Given the description of an element on the screen output the (x, y) to click on. 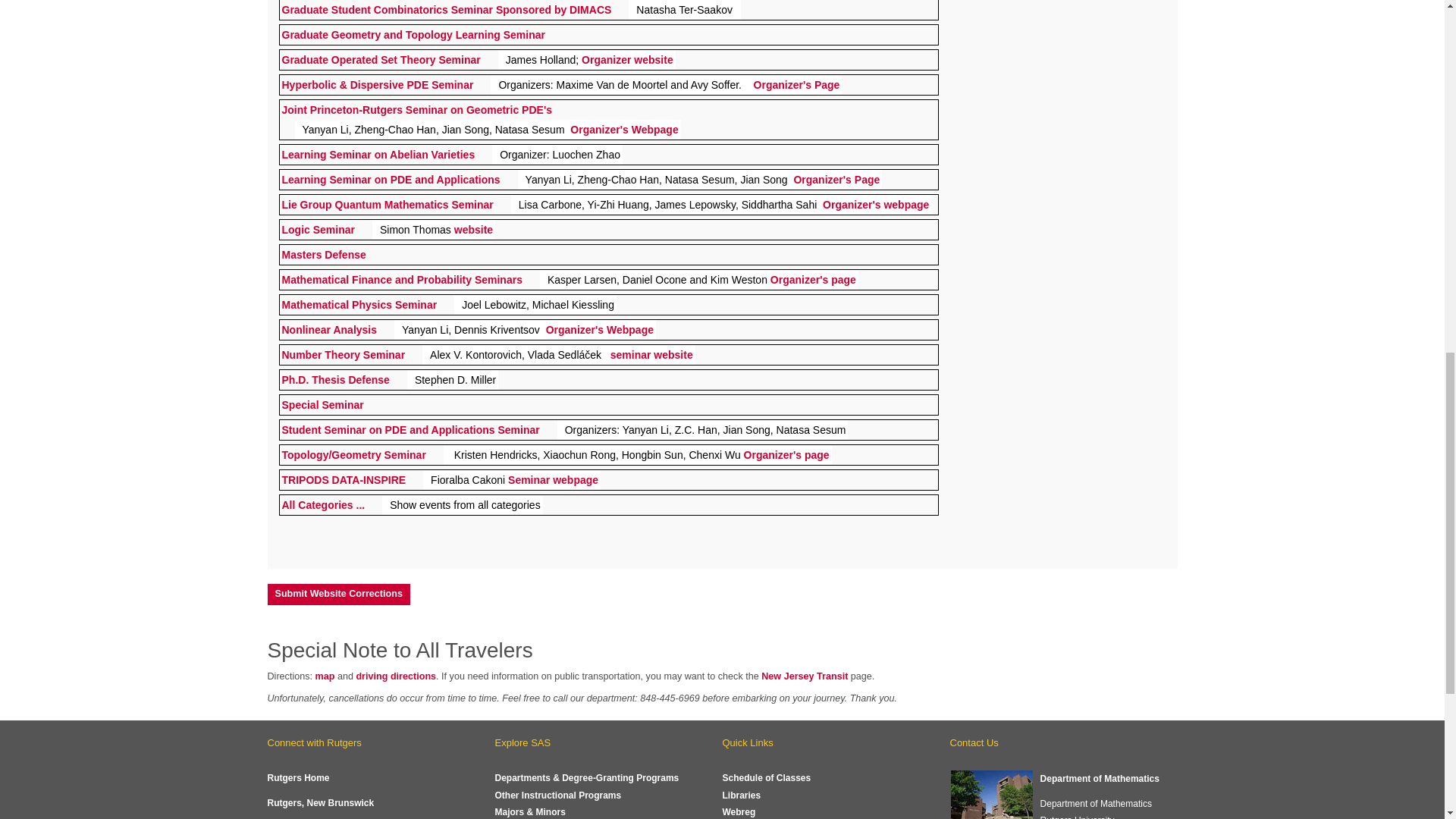
Graduate Student Combinatorics Seminar Sponsored by DIMACS (446, 9)
Graduate Geometry and Topology Learning Seminar  (413, 34)
Graduate Operated Set Theory Seminar (381, 59)
